Given the description of an element on the screen output the (x, y) to click on. 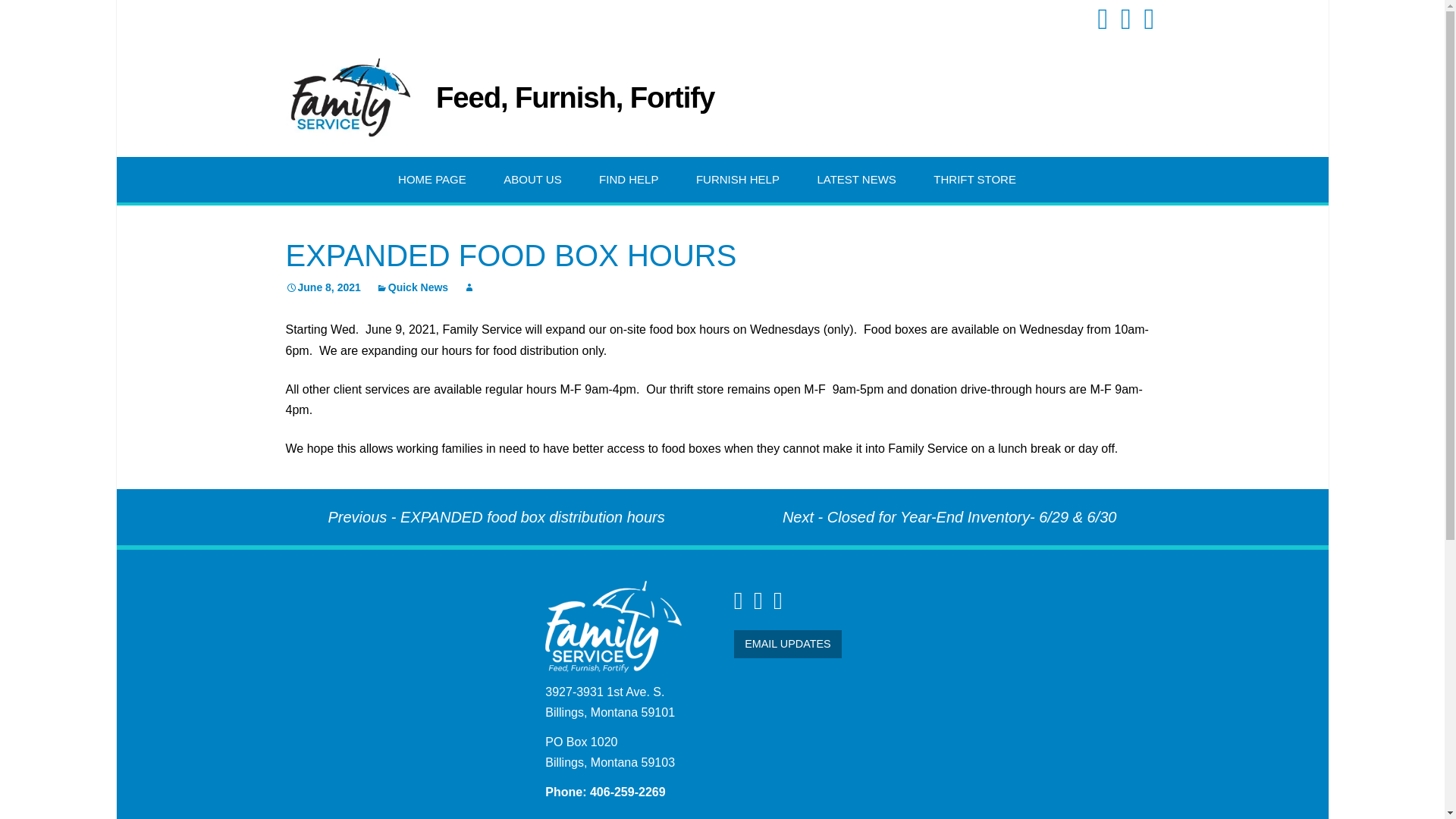
View all posts by  (469, 287)
ABOUT US (532, 179)
HOME PAGE (432, 179)
FURNISH HELP (737, 179)
Home Page (349, 97)
THRIFT STORE (975, 179)
DONATE (753, 225)
Permalink to EXPANDED FOOD BOX HOURS (322, 287)
Family Service Home Page (612, 625)
Choose your email communication preferences (787, 643)
LATEST NEWS (855, 179)
FIND HELP (628, 179)
June 8, 2021 (322, 287)
